Given the description of an element on the screen output the (x, y) to click on. 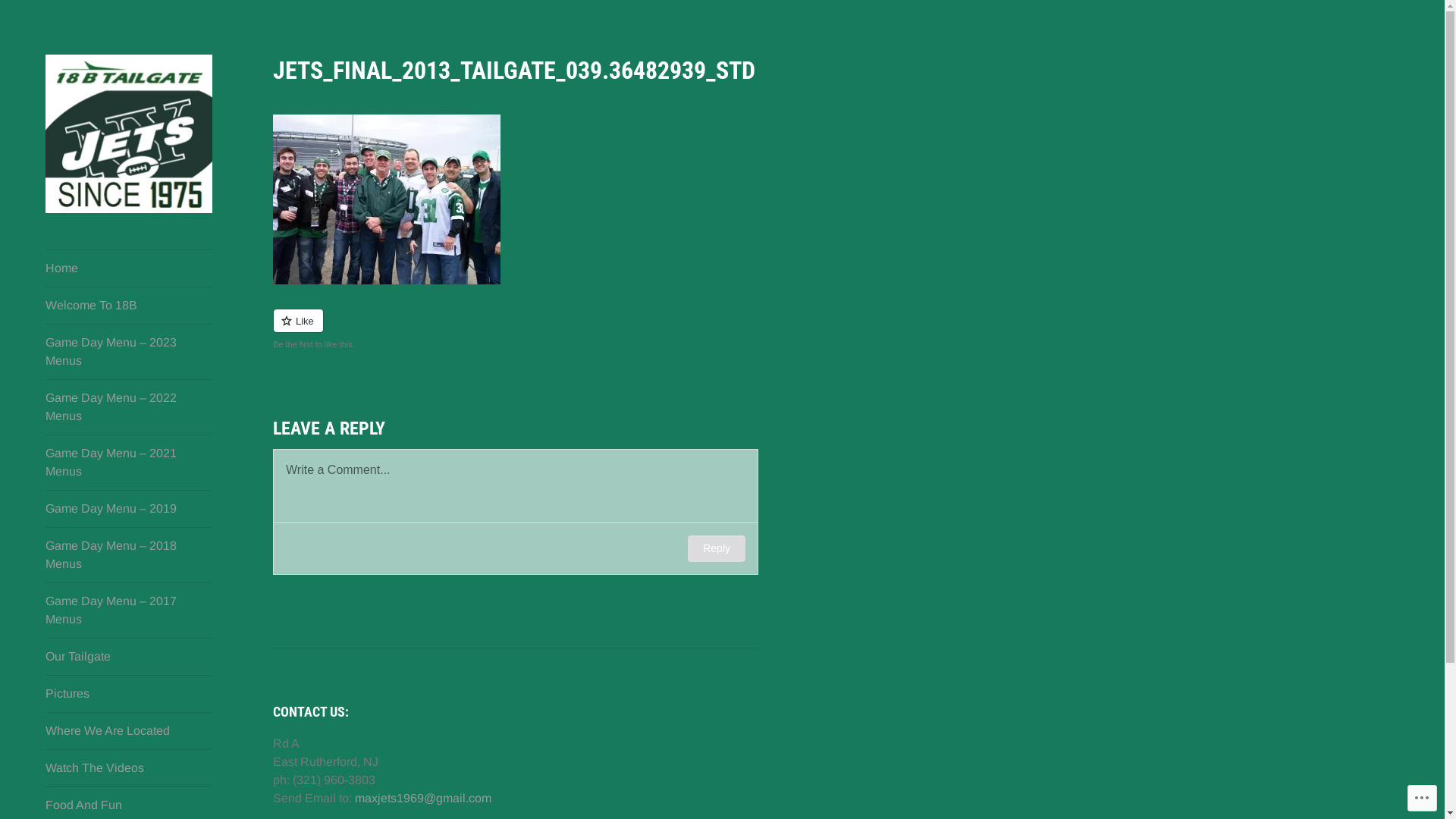
Home Element type: text (128, 268)
maxjets1969@gmail.com Element type: text (422, 797)
Reply Element type: text (716, 548)
Where We Are Located Element type: text (128, 730)
Search Element type: text (33, 15)
Our Tailgate Element type: text (128, 656)
Like or Reblog Element type: hover (606, 329)
Pictures Element type: text (128, 693)
Watch The Videos Element type: text (128, 767)
Welcome To 18B Element type: text (128, 305)
